Given the description of an element on the screen output the (x, y) to click on. 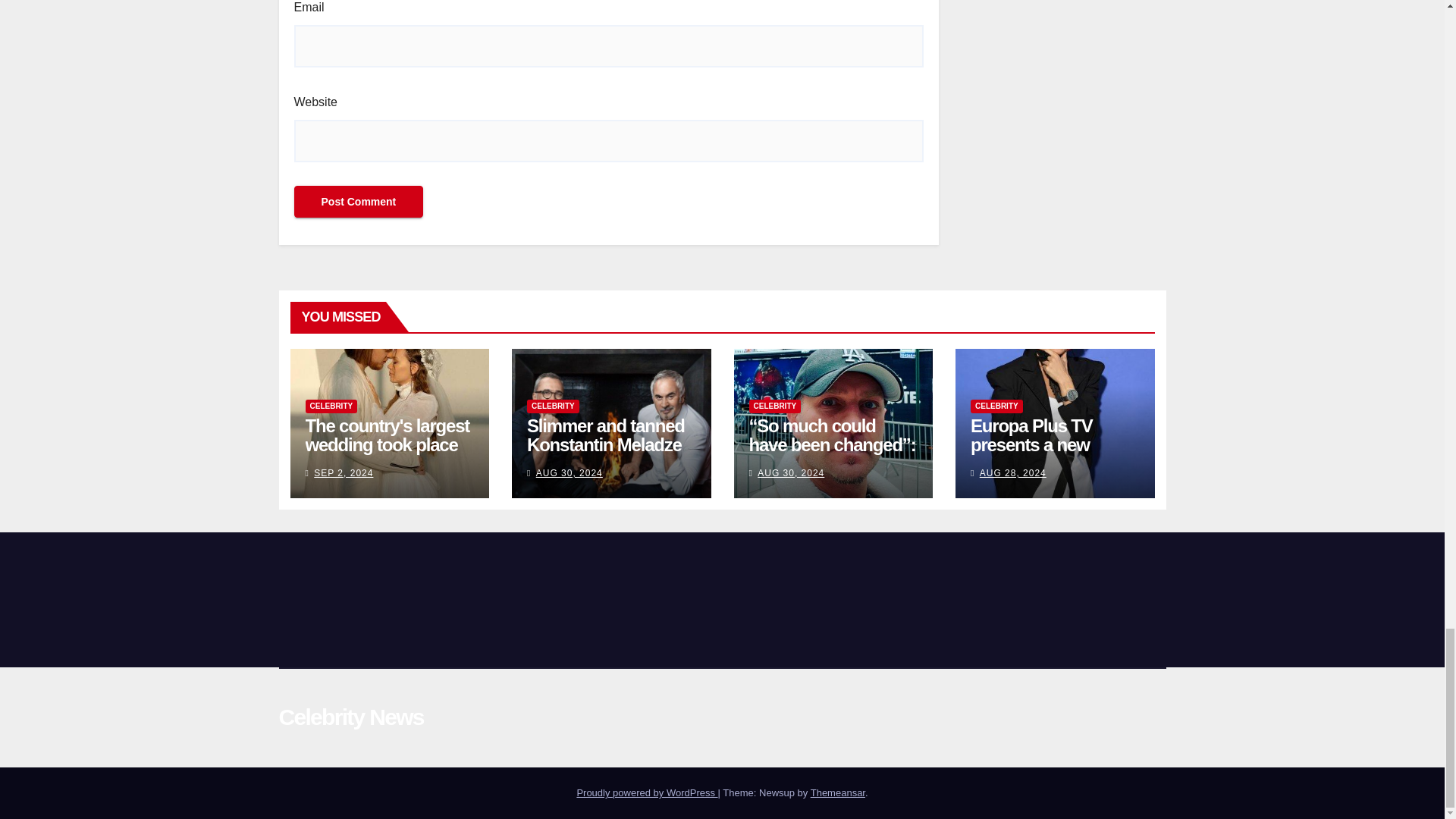
Post Comment (358, 201)
CELEBRITY (330, 406)
CELEBRITY (553, 406)
Post Comment (358, 201)
The country's largest wedding took place in Moscow (386, 444)
SEP 2, 2024 (343, 472)
